Given the description of an element on the screen output the (x, y) to click on. 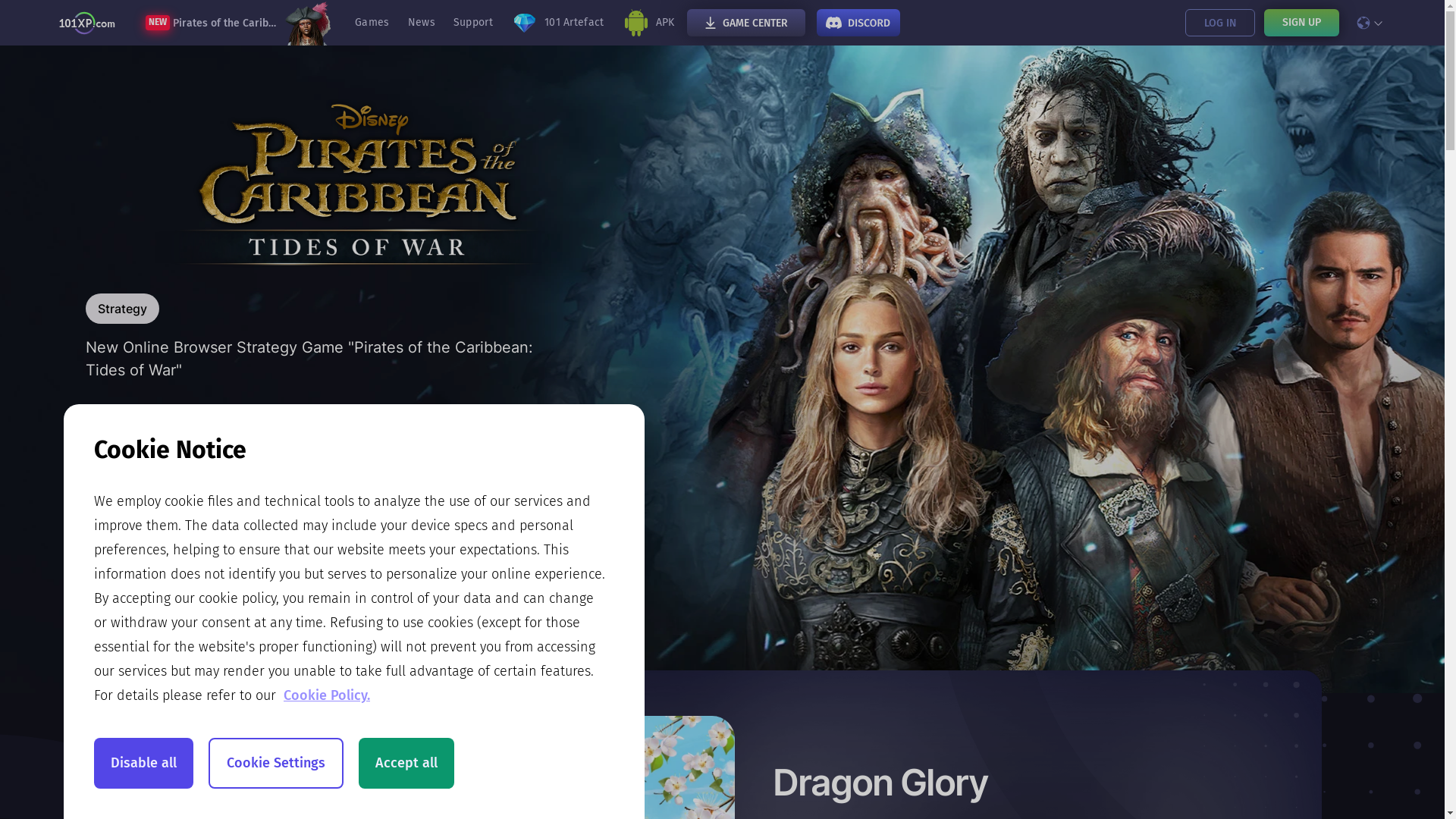
GAME CENTER Element type: text (746, 22)
Games Element type: text (371, 22)
NEW
Pirates of the Caribbean: Tides of War Element type: text (237, 22)
Watch trailer Element type: text (413, 490)
Support Element type: text (473, 22)
News Element type: text (421, 22)
Cookie Policy. Element type: text (326, 695)
LOG IN Element type: text (1219, 22)
SIGN UP Element type: text (1300, 22)
101 Artefact Element type: text (557, 22)
APK Element type: text (648, 22)
Play now Element type: text (187, 490)
